Given the description of an element on the screen output the (x, y) to click on. 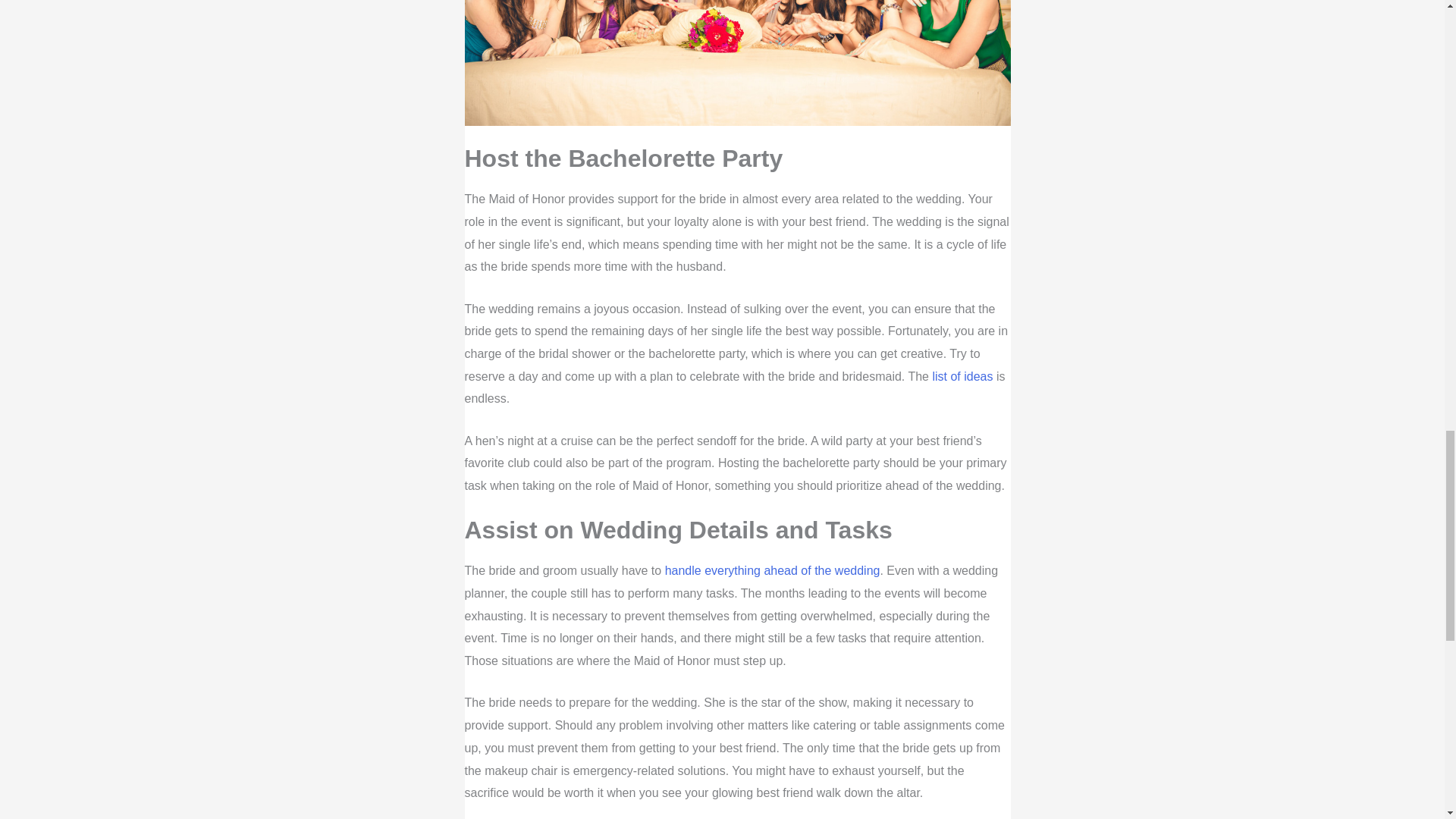
handle everything ahead of the wedding (772, 570)
list of ideas (961, 376)
